Given the description of an element on the screen output the (x, y) to click on. 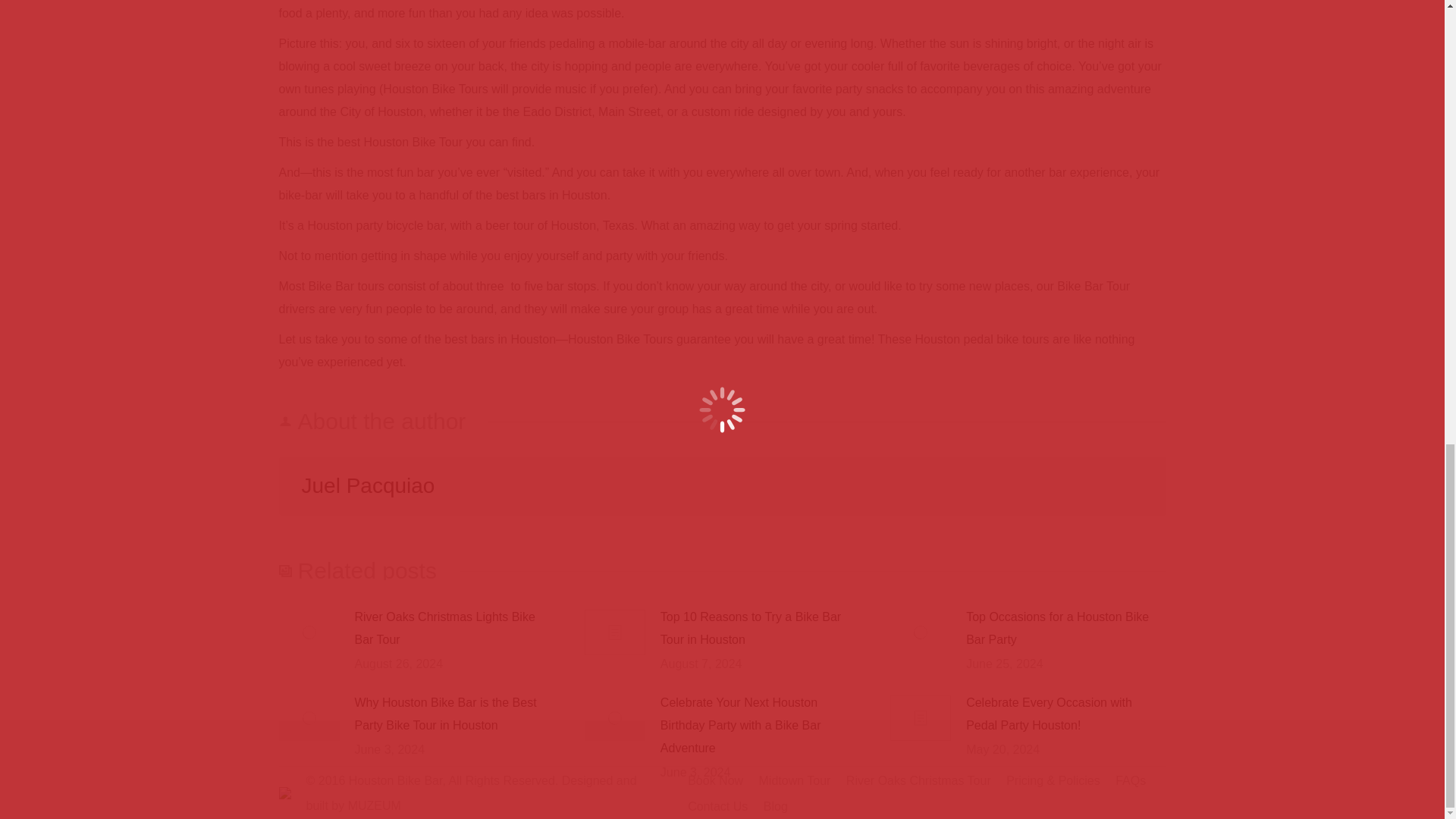
Book Now (714, 780)
Top 10 Reasons to Try a Bike Bar Tour in Houston (760, 628)
River Oaks Christmas Lights Bike Bar Tour (454, 628)
Top Occasions for a Houston Bike Bar Party (1066, 628)
Why Houston Bike Bar is the Best Party Bike Tour in Houston (454, 714)
Celebrate Every Occasion with Pedal Party Houston! (1066, 714)
Midtown Tour (794, 780)
